Given the description of an element on the screen output the (x, y) to click on. 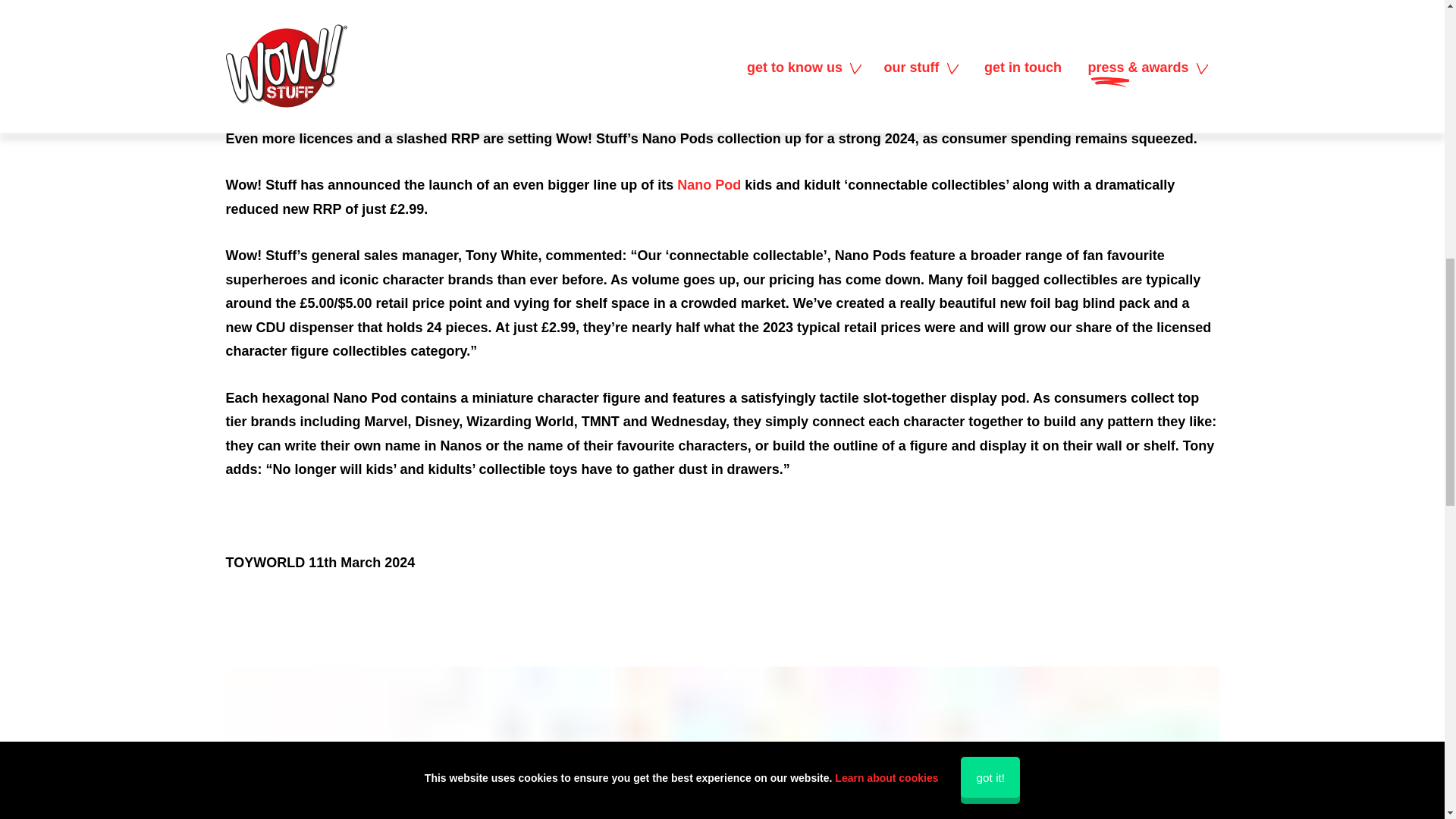
Nano Pod (709, 184)
